Given the description of an element on the screen output the (x, y) to click on. 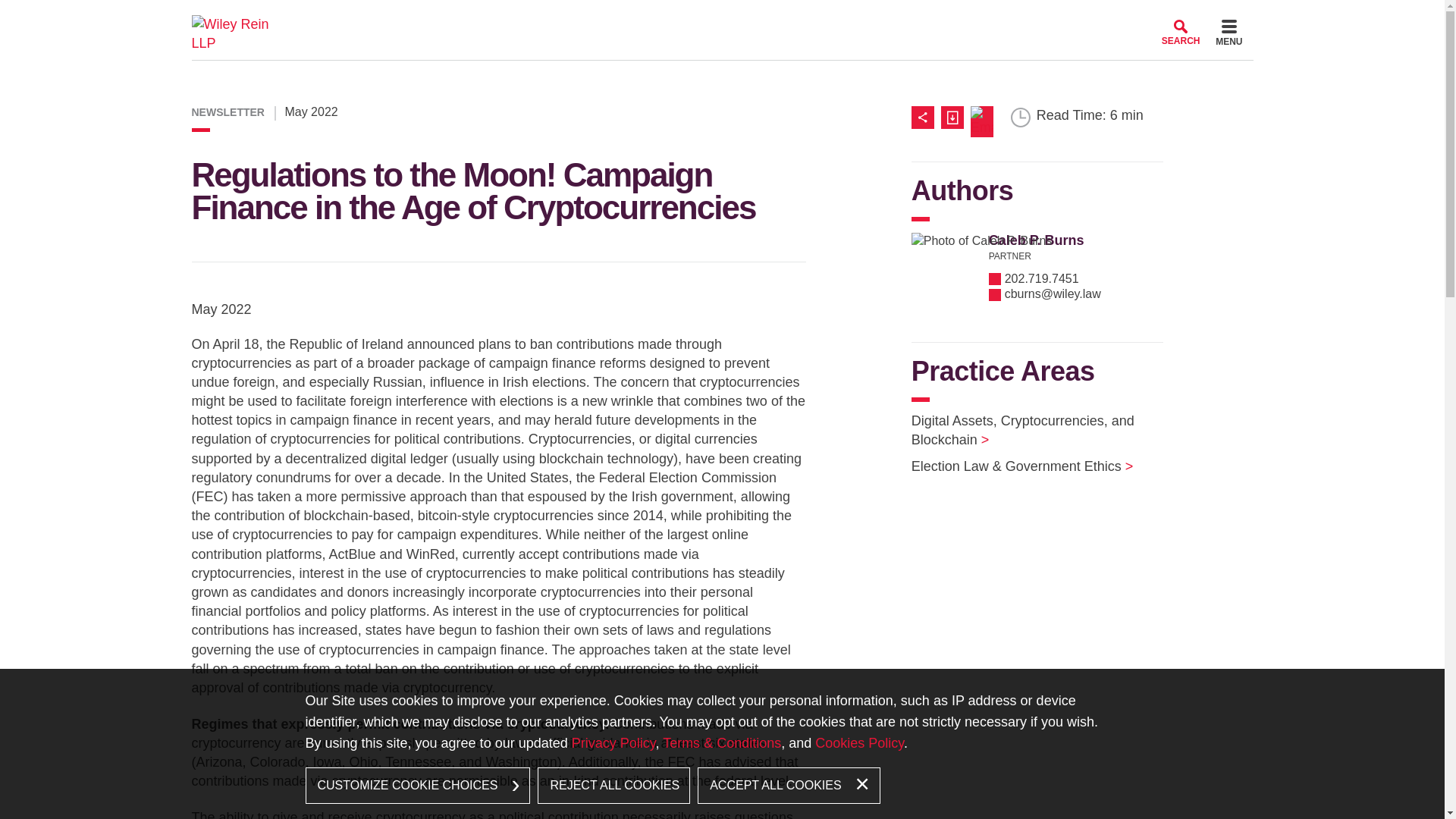
Share (925, 117)
Menu (676, 17)
Menu (1228, 34)
SEARCH (1180, 32)
Cookie Settings (663, 17)
Main Content (669, 17)
Main Menu (676, 17)
MENU (1228, 34)
